Given the description of an element on the screen output the (x, y) to click on. 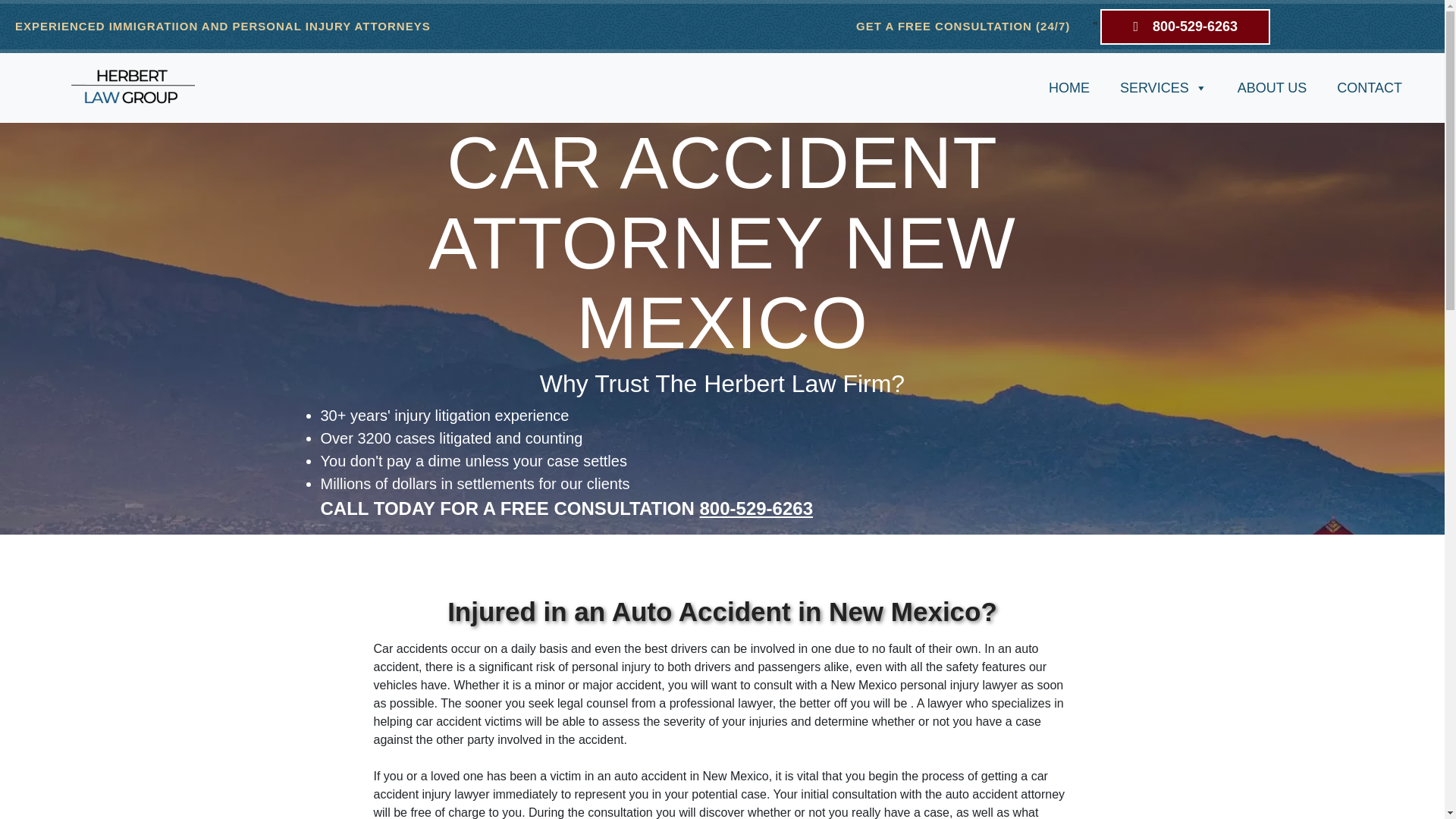
CONTACT (1369, 88)
HOME (1069, 88)
800-529-6263 (1184, 27)
SERVICES (1164, 88)
800-529-6263 (756, 507)
ABOUT US (1272, 88)
